Given the description of an element on the screen output the (x, y) to click on. 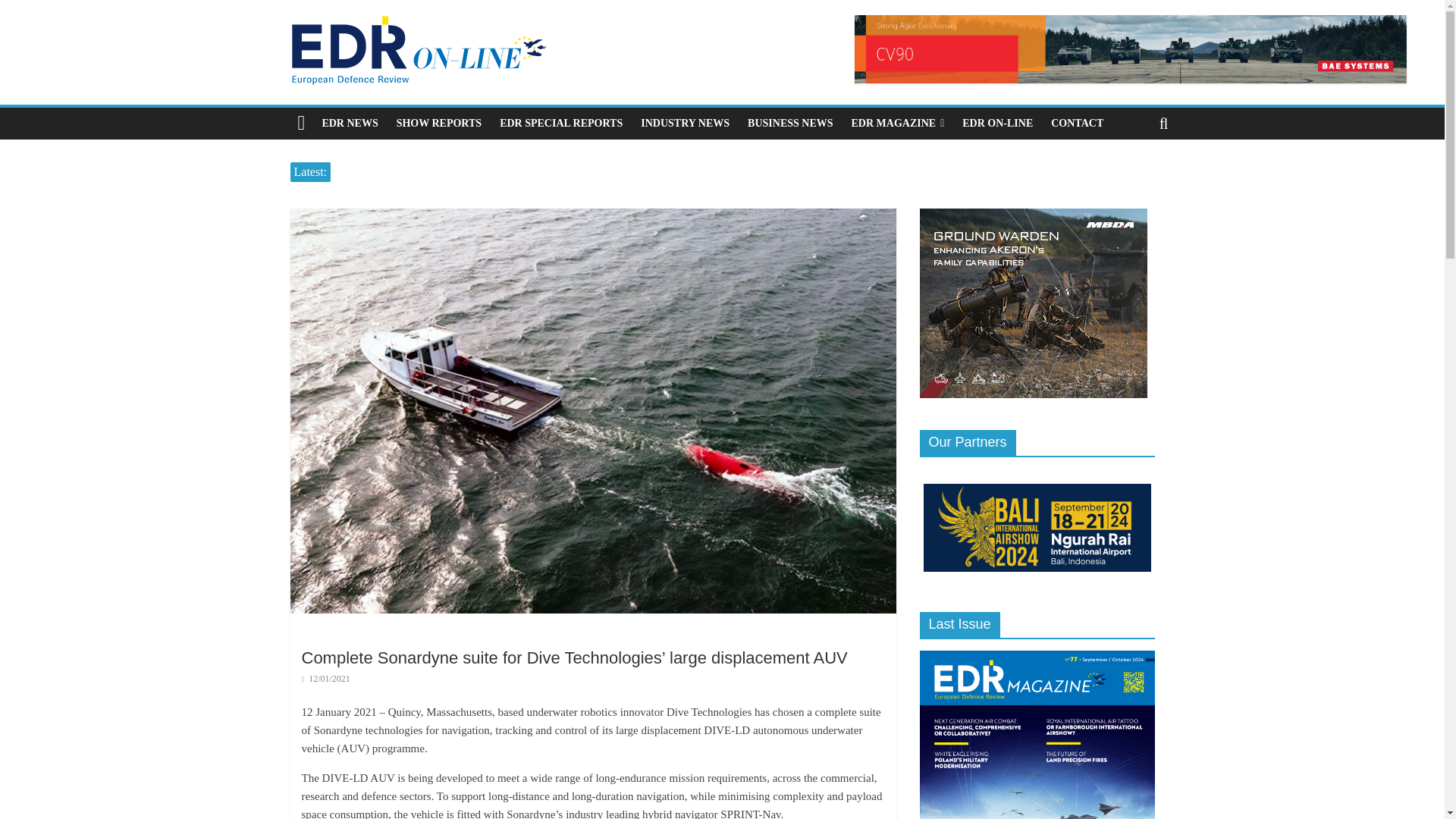
EDR SPECIAL REPORTS (560, 123)
EDR MAGAZINE (898, 123)
Industry Press (684, 123)
EDR News (350, 123)
CONTACT (1077, 123)
EDR ON-LINE (997, 123)
SHOW REPORTS (438, 123)
16:19 (325, 678)
INDUSTRY NEWS (684, 123)
BUSINESS NEWS (789, 123)
